Given the description of an element on the screen output the (x, y) to click on. 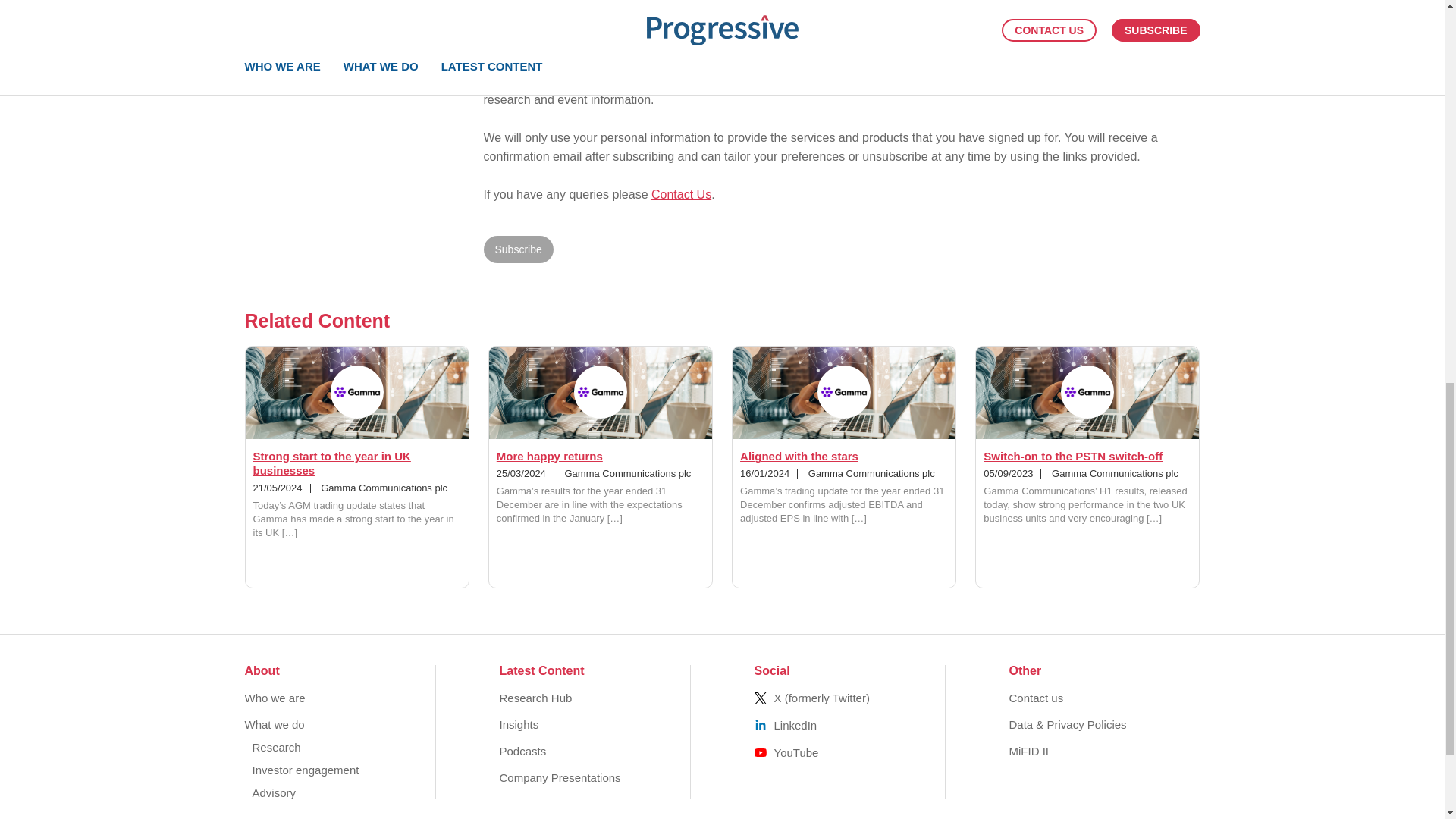
Subscribe (518, 248)
Strong start to the year in UK businesses (331, 462)
Gareth Evans (367, 20)
Other (491, 19)
Contact Us (680, 194)
can be found here (818, 46)
Subscribe (518, 248)
